Given the description of an element on the screen output the (x, y) to click on. 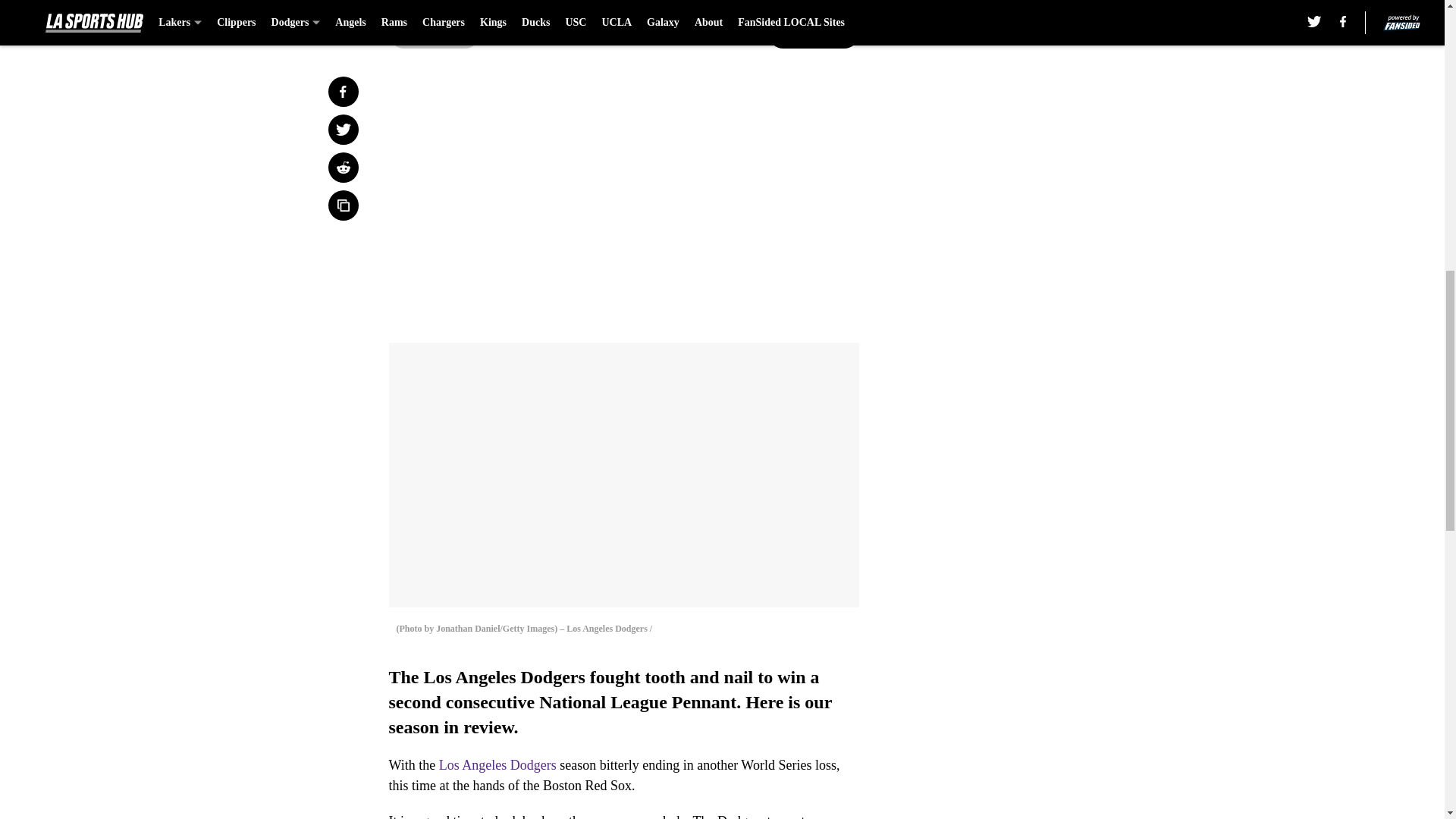
Prev (433, 33)
Next (813, 33)
Los Angeles Dodgers (497, 765)
